Given the description of an element on the screen output the (x, y) to click on. 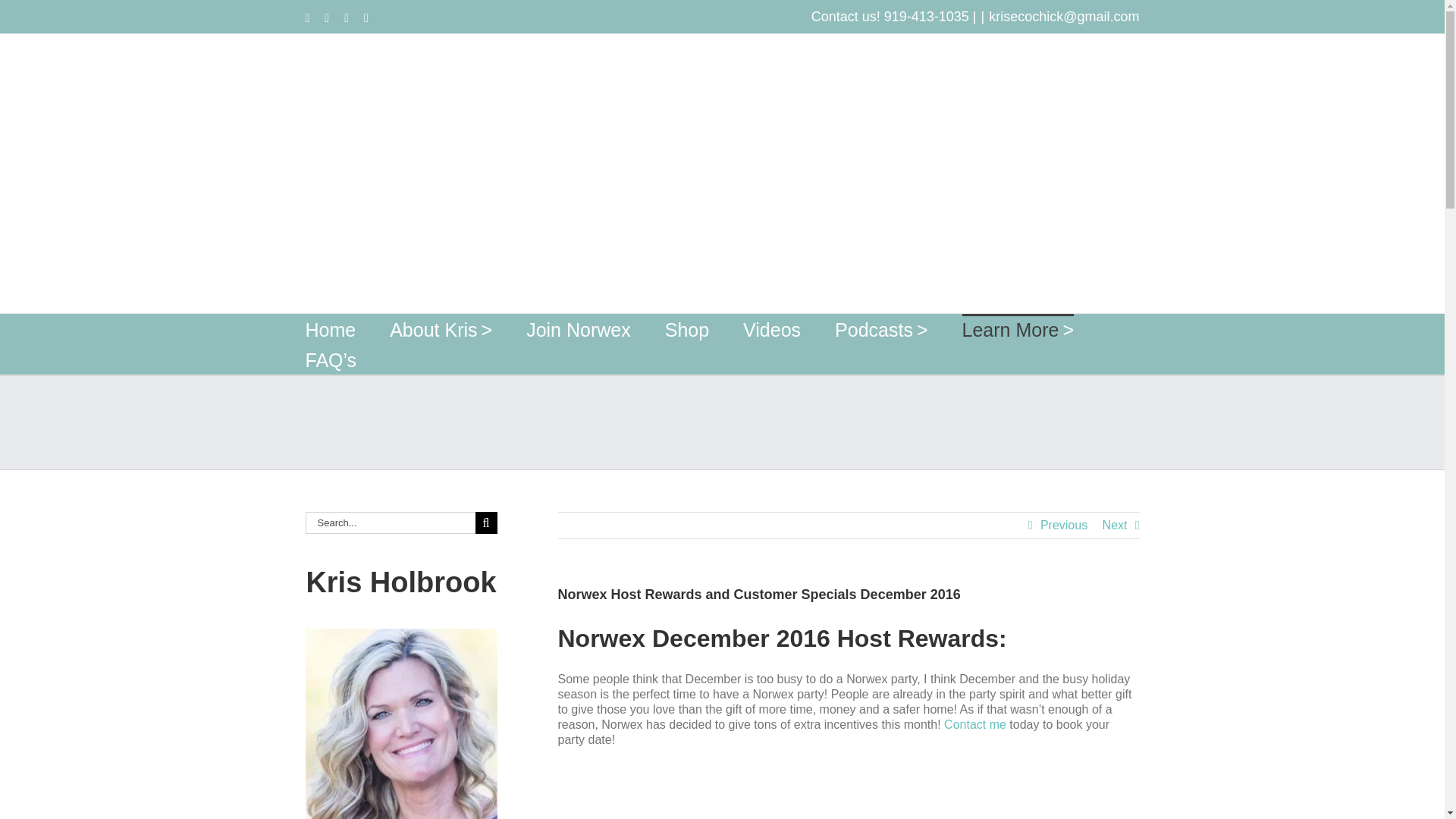
Videos (771, 328)
Contact me (974, 724)
Join Norwex (577, 328)
Previous (1064, 525)
Learn More (1018, 328)
Next (1114, 525)
Shop (687, 328)
Home (329, 328)
About Kris (441, 328)
Podcasts (880, 328)
